Given the description of an element on the screen output the (x, y) to click on. 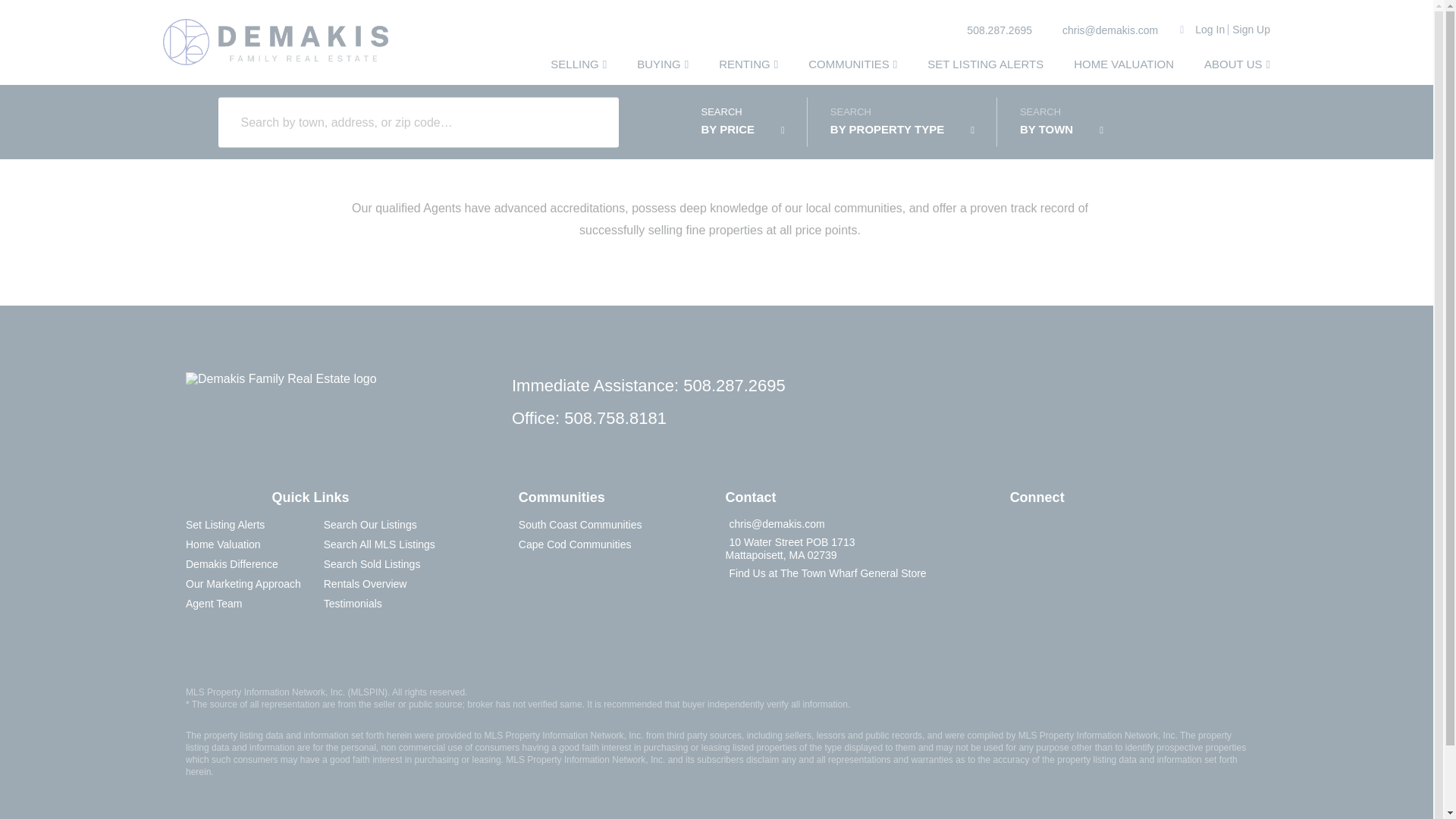
SELLING (578, 64)
COMMUNITIES (852, 64)
RENTING (748, 64)
Sign Up (1250, 29)
BUYING (662, 64)
508.287.2695 (995, 30)
Log In (1209, 29)
